Given the description of an element on the screen output the (x, y) to click on. 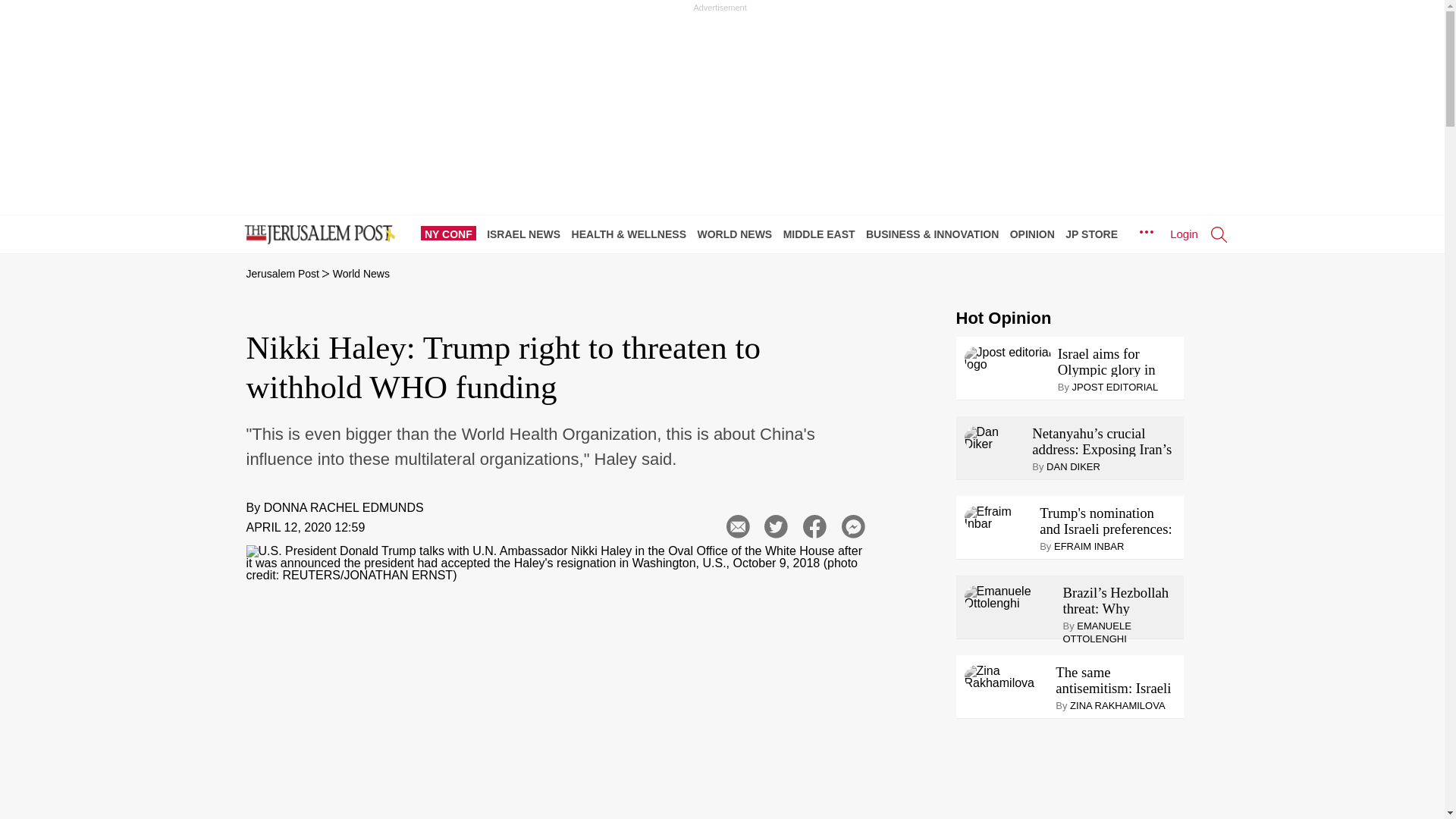
Emanuele Ottolenghi (1010, 597)
Jerusalem Post (282, 273)
World News (361, 273)
WORLD NEWS (737, 234)
Jerusalem Post (282, 273)
OPINION (1036, 234)
Efraim Inbar (998, 517)
JP STORE (1095, 234)
NY CONF (451, 234)
World News (361, 273)
 Zina Rakhamilova (1006, 677)
DONNA RACHEL EDMUNDS (343, 507)
 Dan Diker (994, 437)
